Given the description of an element on the screen output the (x, y) to click on. 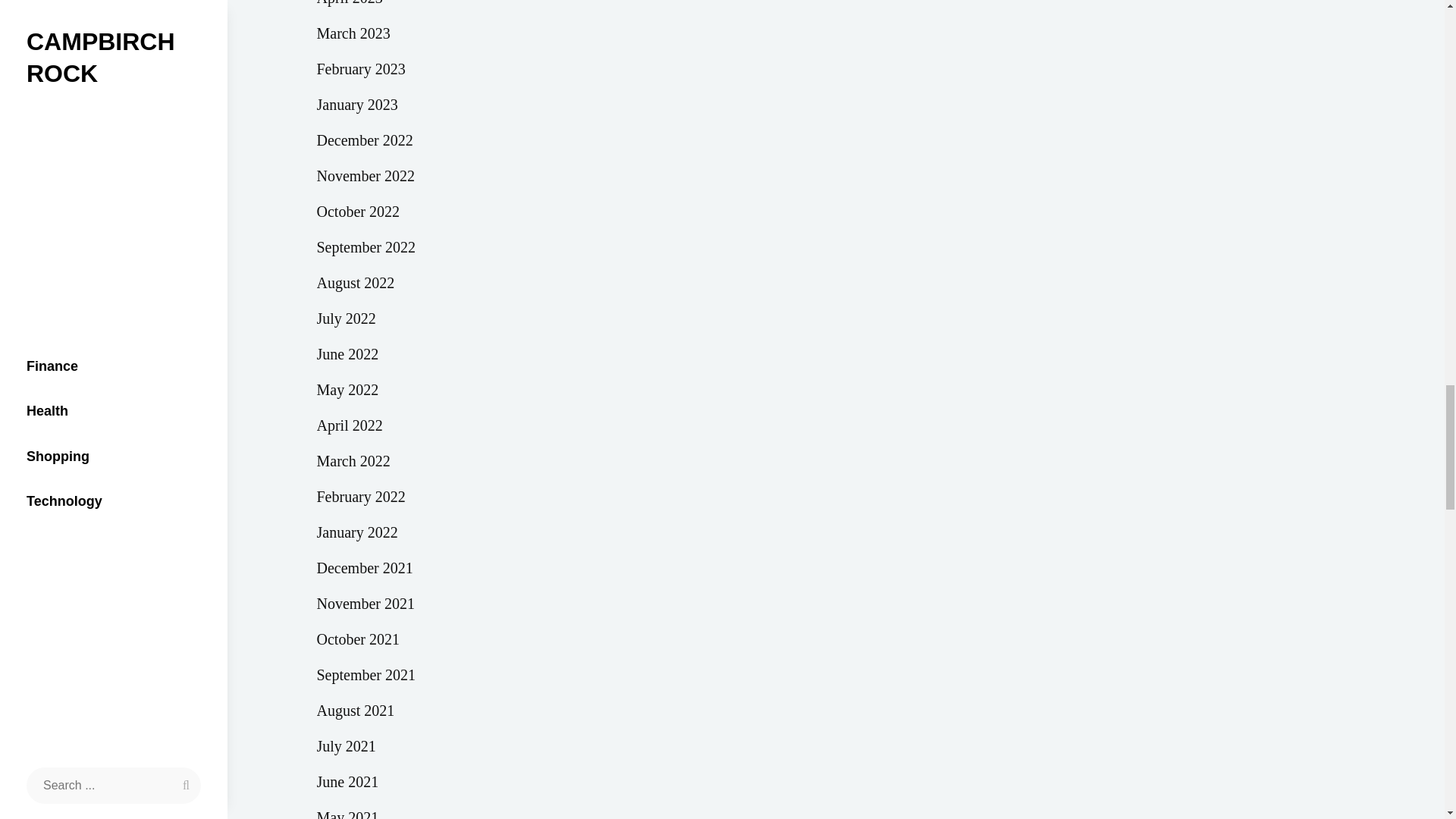
November 2022 (365, 175)
April 2023 (349, 5)
December 2022 (365, 140)
February 2023 (361, 69)
January 2023 (357, 103)
October 2022 (357, 212)
March 2023 (353, 32)
